Given the description of an element on the screen output the (x, y) to click on. 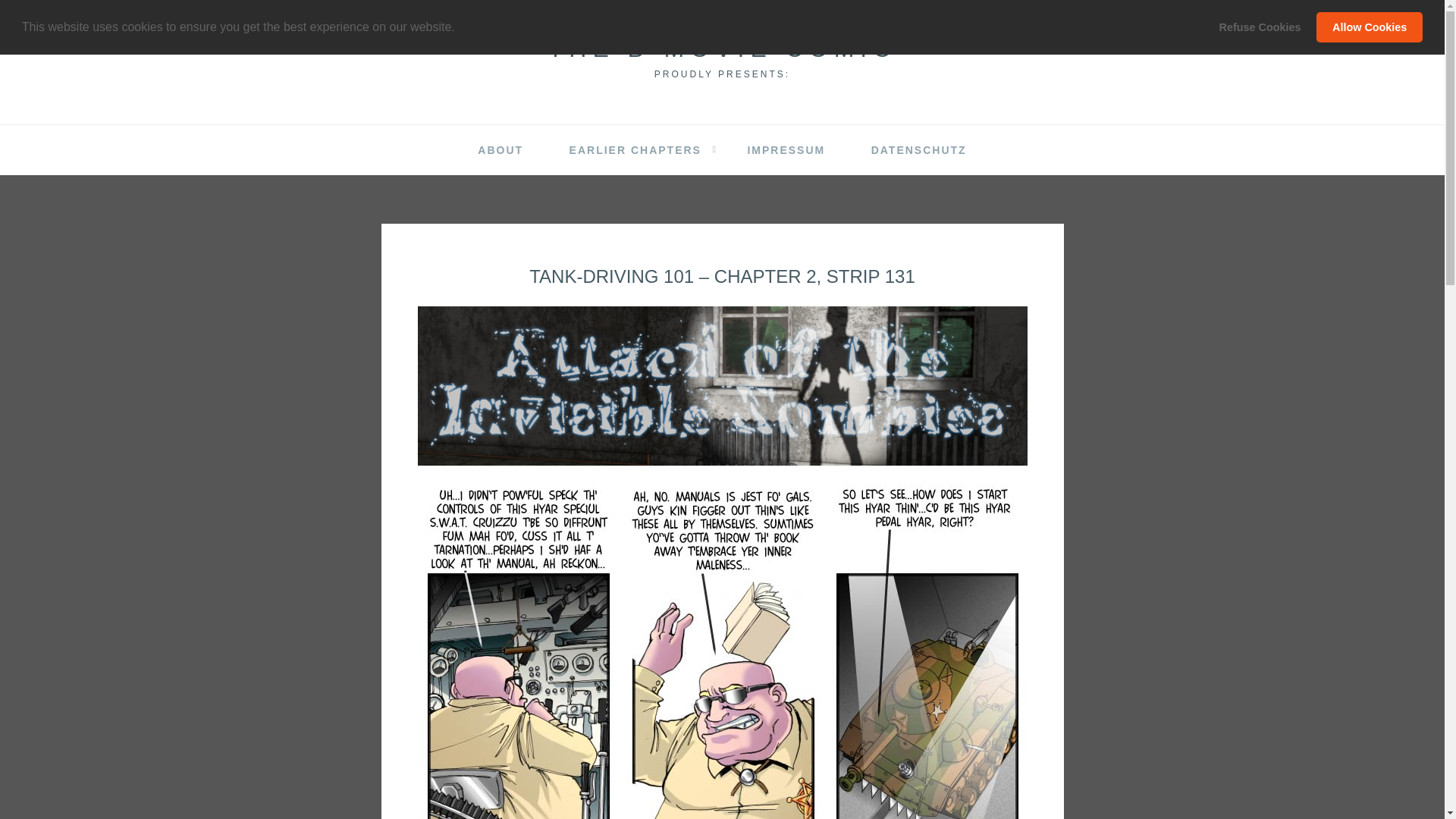
DATENSCHUTZ (919, 150)
EARLIER CHAPTERS (635, 150)
ABOUT (500, 150)
THE B-MOVIE COMIC (722, 48)
Allow Cookies (1369, 27)
IMPRESSUM (785, 150)
Refuse Cookies (1259, 27)
